Given the description of an element on the screen output the (x, y) to click on. 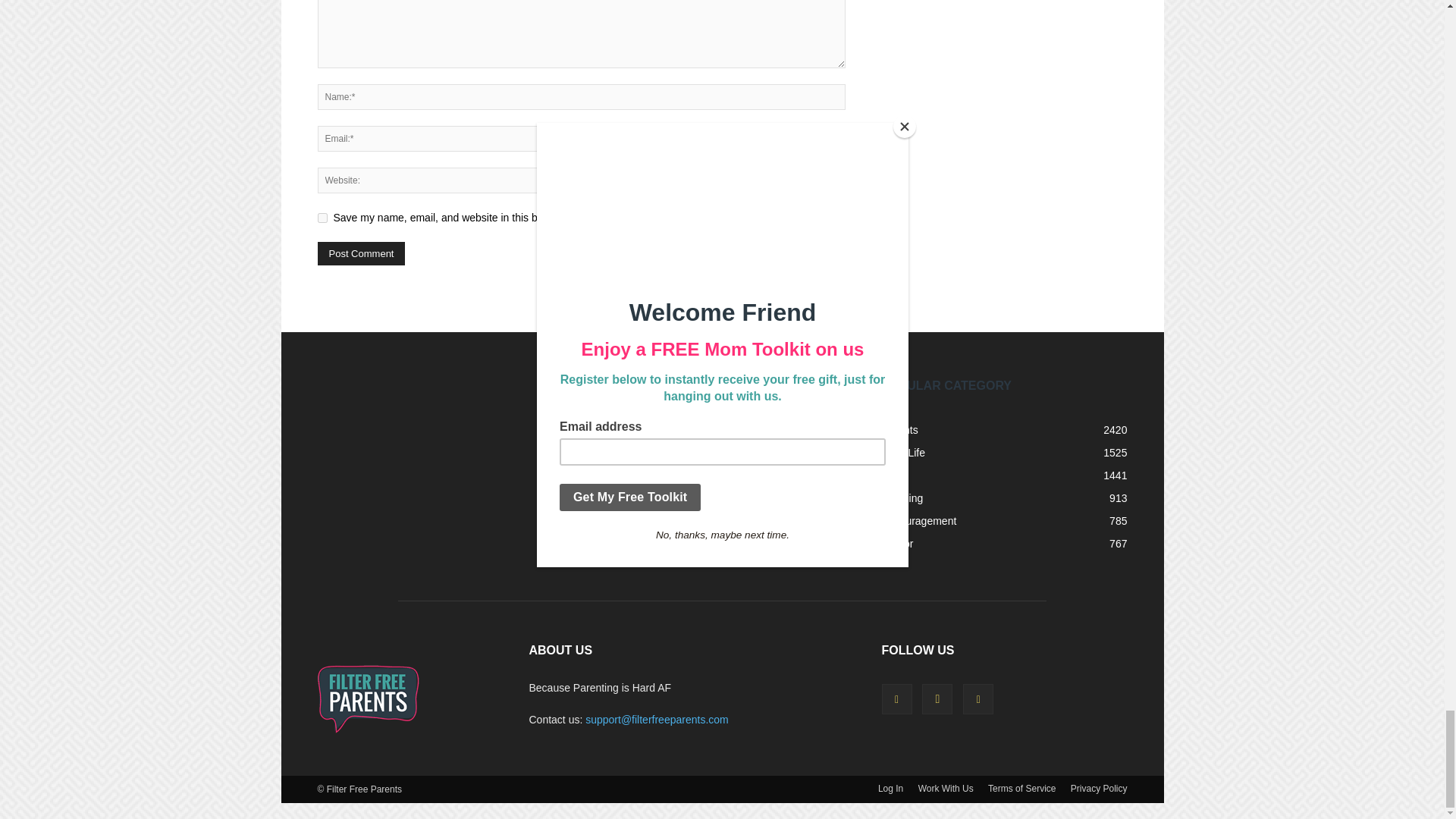
yes (321, 217)
Post Comment (360, 253)
